Given the description of an element on the screen output the (x, y) to click on. 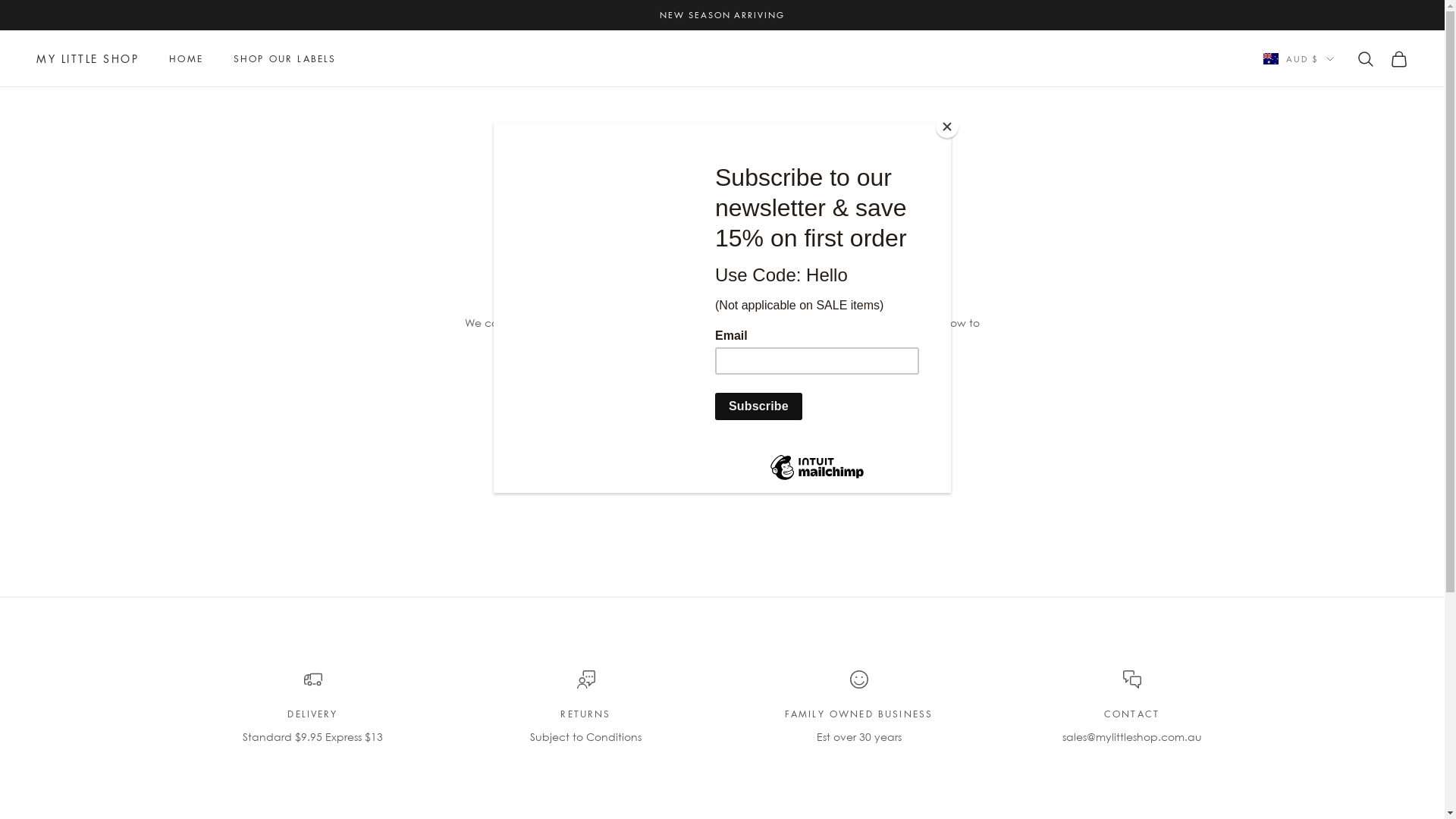
CONTINUE SHOPPING Element type: text (722, 389)
AUD $ Element type: text (1298, 58)
HOME Element type: text (186, 58)
Open search Element type: text (1365, 59)
MY LITTLE SHOP Element type: text (87, 59)
Open cart Element type: text (1399, 59)
